Given the description of an element on the screen output the (x, y) to click on. 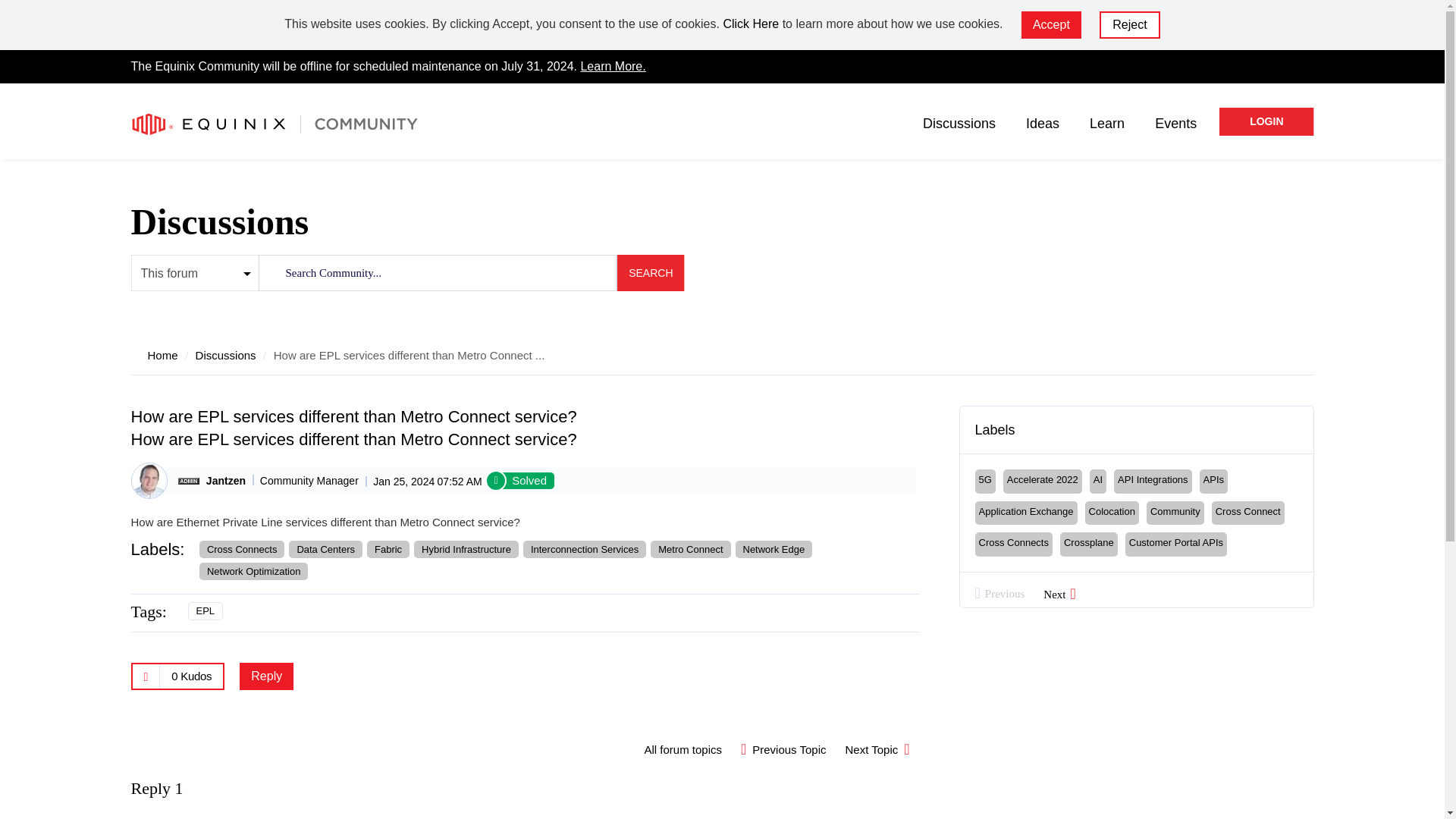
The total number of kudos this post has received. (191, 676)
Jantzen (226, 480)
Data Centers (325, 548)
Search (649, 272)
Learn More. (612, 65)
Jantzen (149, 480)
Hybrid Infrastructure (465, 548)
Learn (1106, 123)
Discussions (225, 354)
Cross Connects (241, 548)
Search (649, 272)
Community Manager (188, 480)
Ideas (1042, 123)
Discussions (959, 123)
Accept (1051, 24)
